Given the description of an element on the screen output the (x, y) to click on. 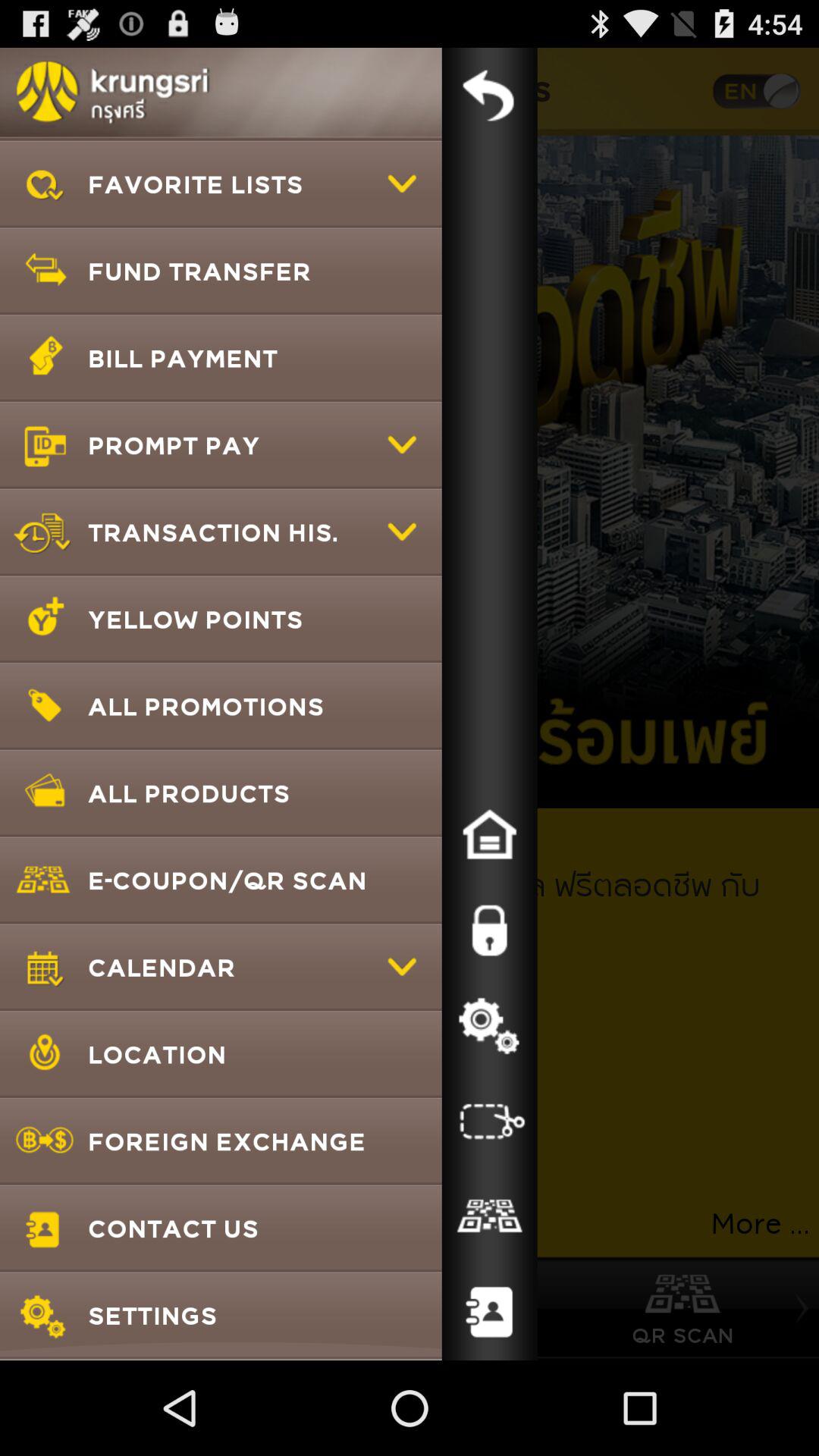
turn on icon to the right of location icon (489, 1121)
